Given the description of an element on the screen output the (x, y) to click on. 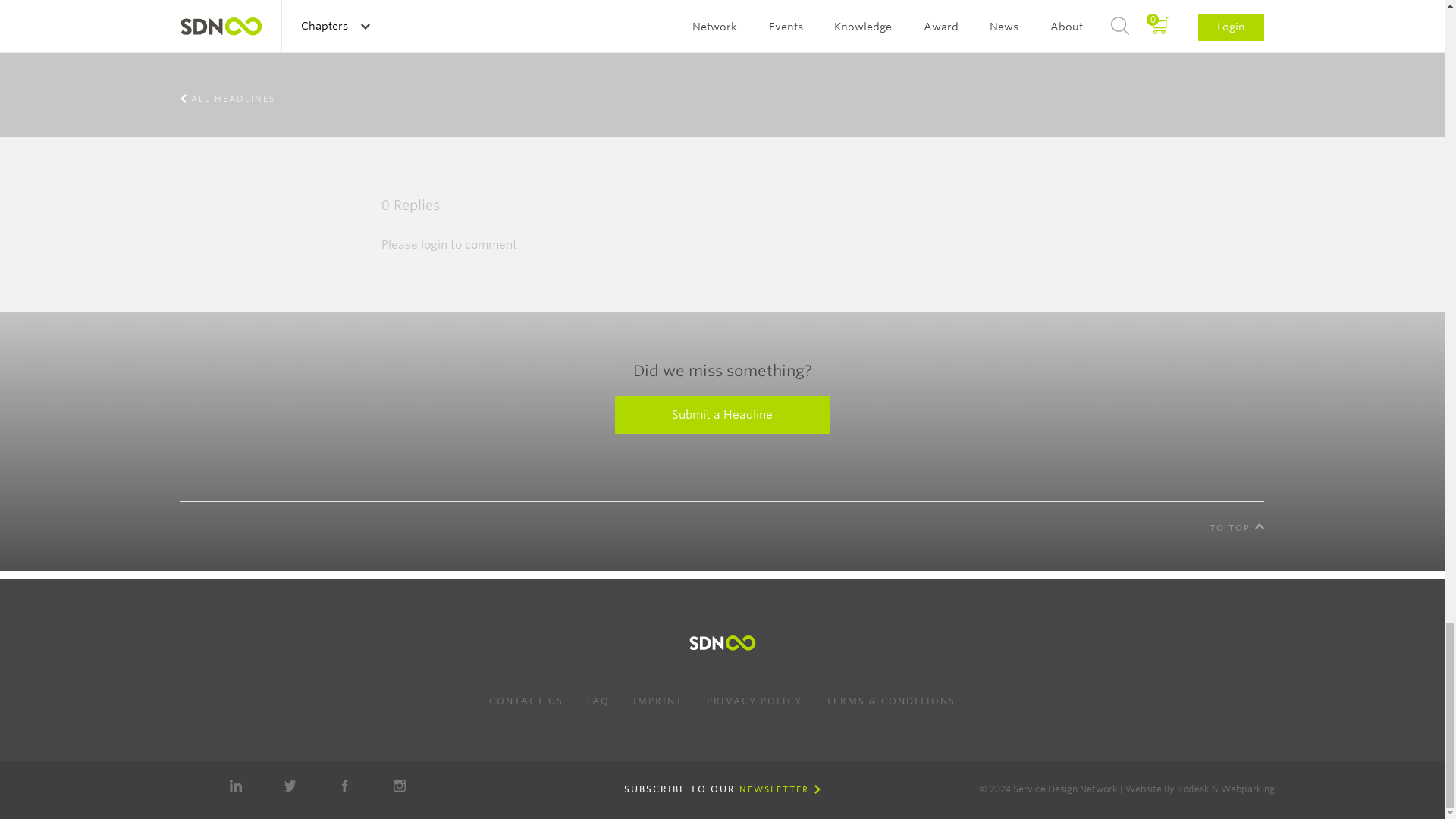
Contact us (526, 701)
FAQ (598, 701)
Privacy Policy (754, 701)
Imprint (657, 701)
